Given the description of an element on the screen output the (x, y) to click on. 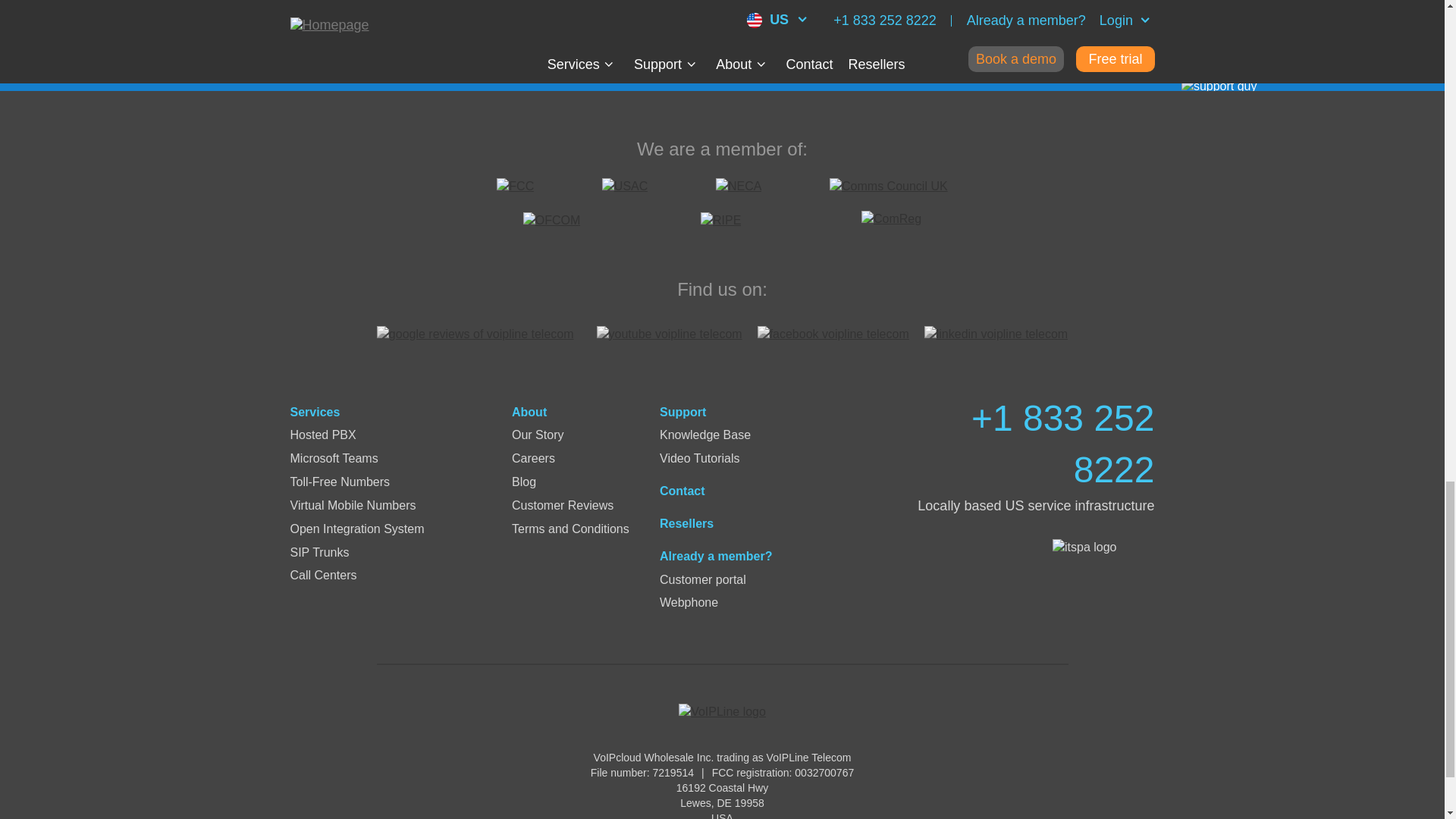
Google reviews (479, 341)
Search (933, 28)
Facebook (833, 334)
YouTube (669, 334)
LinkedIn (996, 334)
